Given the description of an element on the screen output the (x, y) to click on. 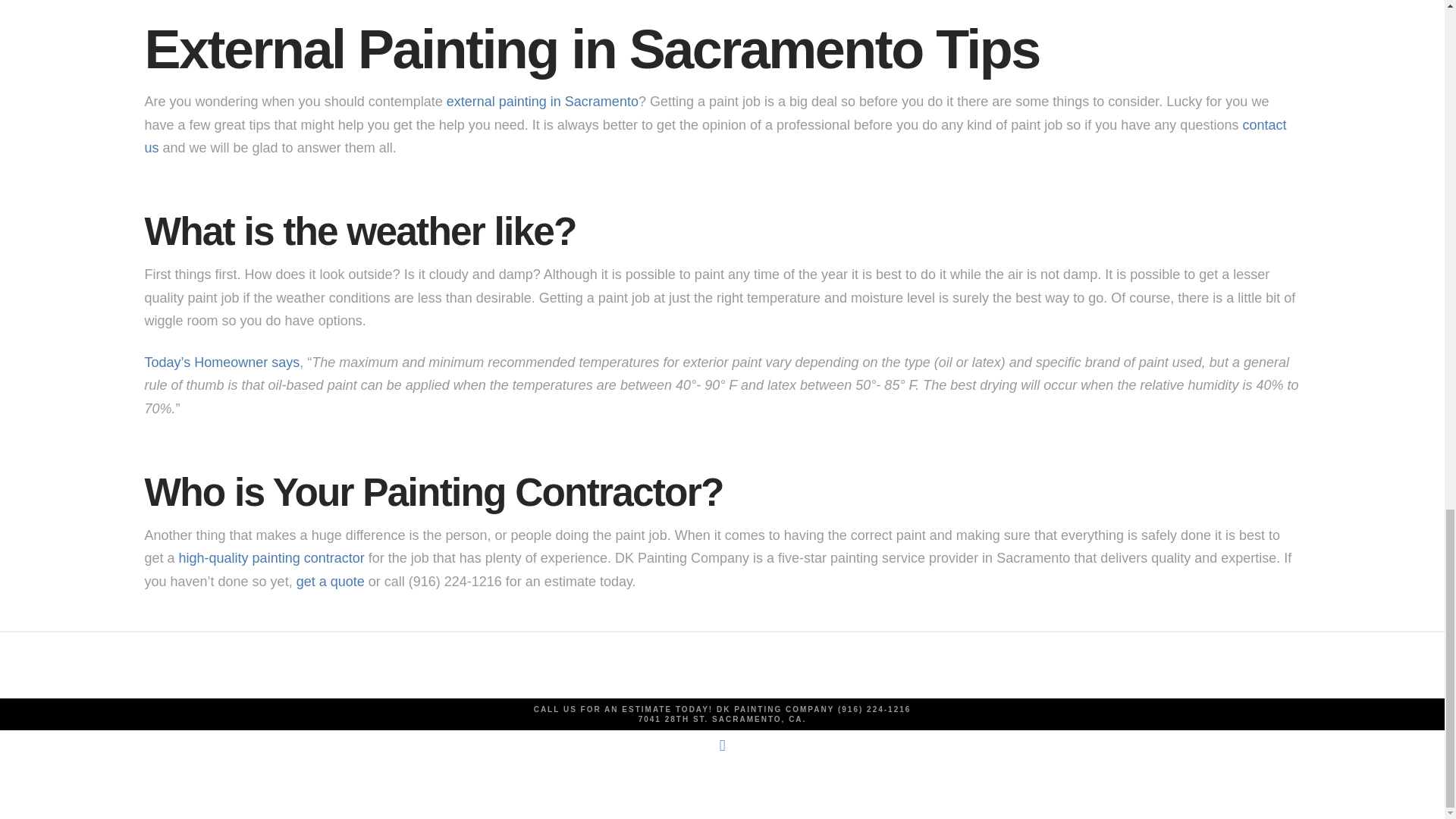
external painting in Sacramento (542, 101)
contact us (714, 136)
high-quality painting contractor (272, 557)
get a quote (331, 581)
